Given the description of an element on the screen output the (x, y) to click on. 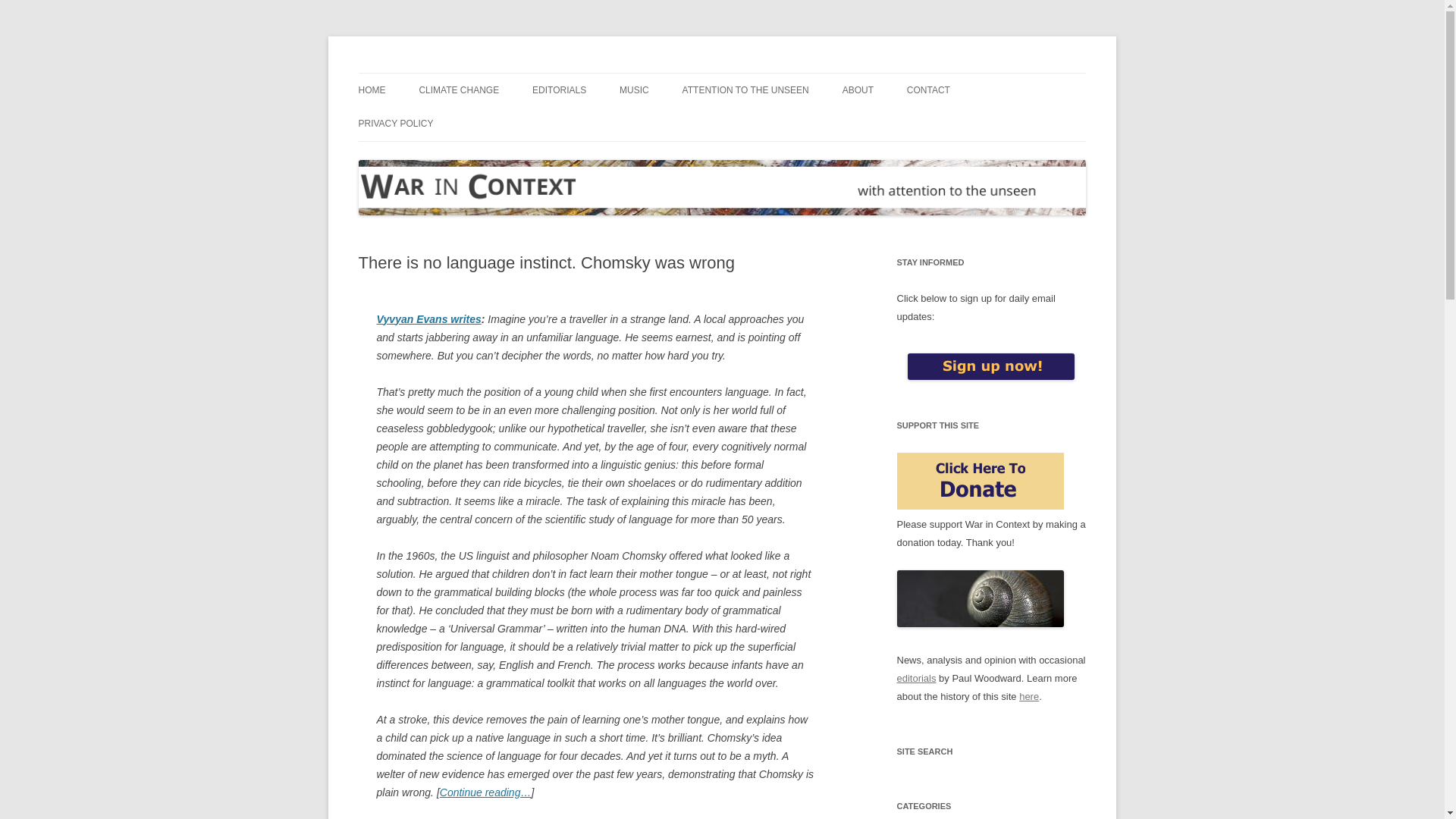
CLIMATE CHANGE (459, 90)
War in Context (427, 72)
ATTENTION TO THE UNSEEN (745, 90)
editorials (916, 677)
PRIVACY POLICY (395, 123)
Vyvyan Evans writes (427, 318)
CONTACT (928, 90)
ABOUT (858, 90)
EDITORIALS (559, 90)
here (1029, 696)
